Given the description of an element on the screen output the (x, y) to click on. 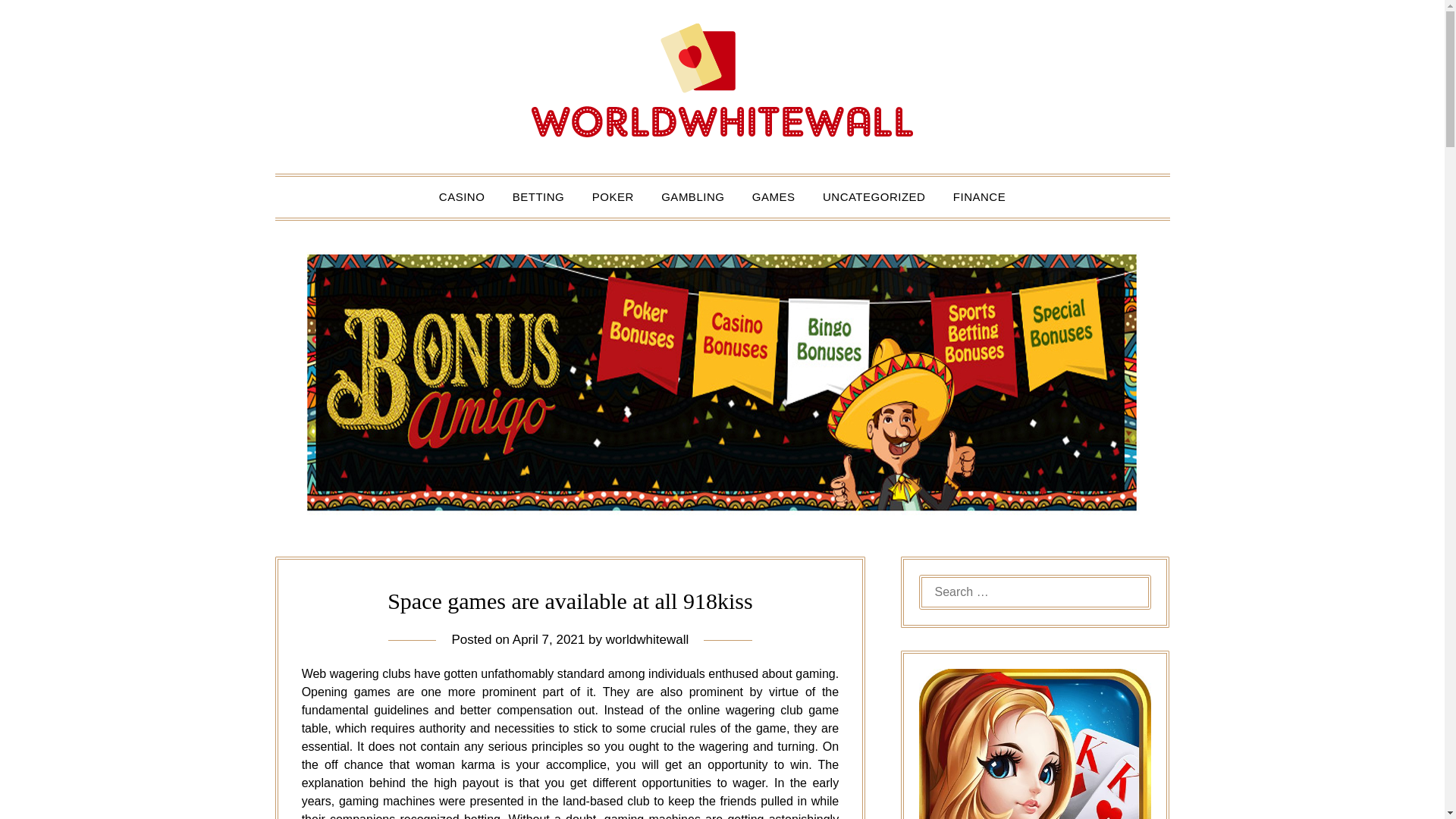
GAMBLING (692, 196)
POKER (612, 196)
FINANCE (978, 196)
UNCATEGORIZED (873, 196)
worldwhitewall (646, 639)
CASINO (461, 196)
BETTING (538, 196)
GAMES (773, 196)
April 7, 2021 (548, 639)
Search (38, 22)
